Given the description of an element on the screen output the (x, y) to click on. 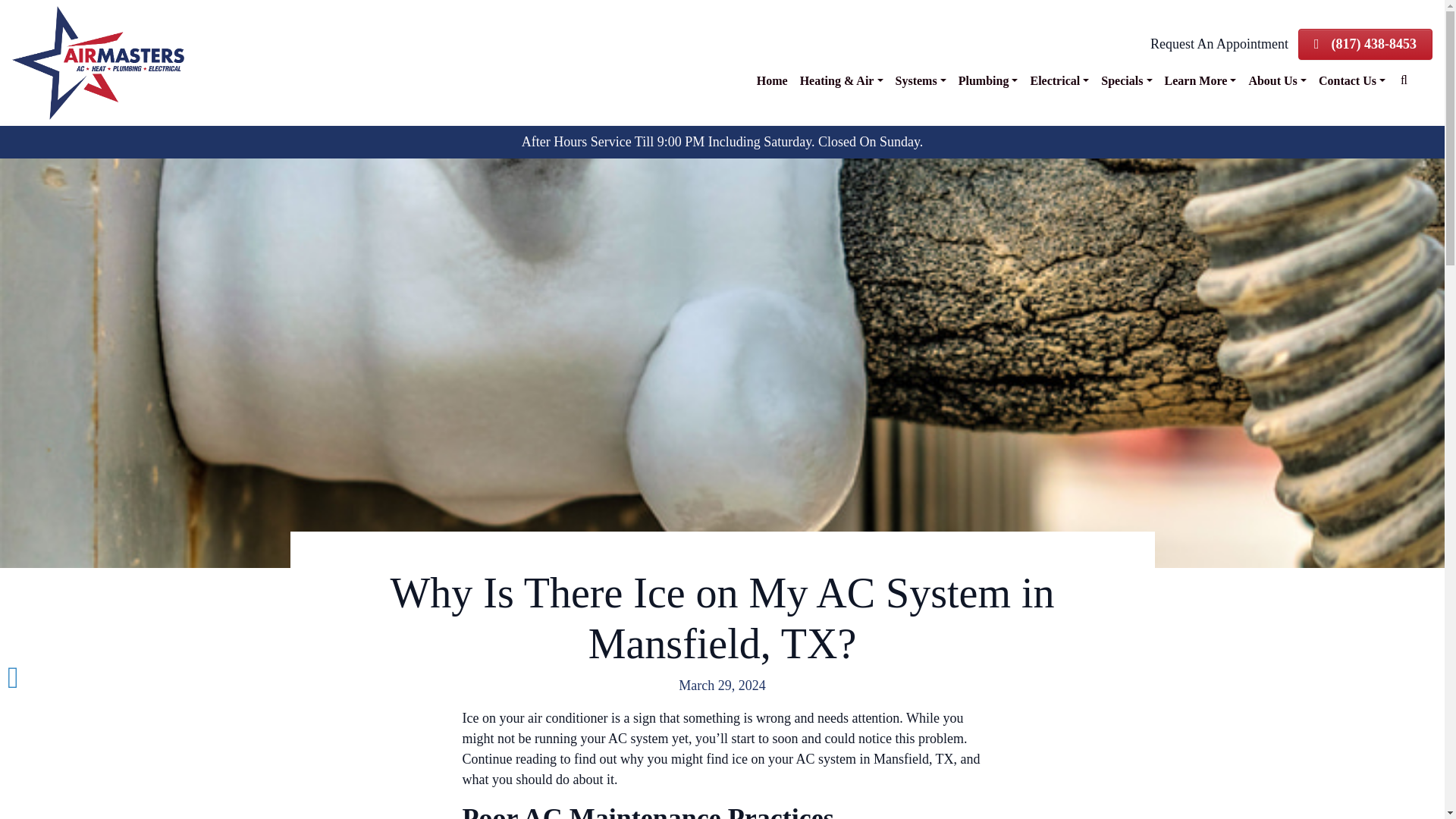
Request An Appointment (1219, 43)
Home (772, 81)
Plumbing (988, 81)
Electrical (1058, 81)
Systems (920, 81)
Specials (1125, 81)
